Given the description of an element on the screen output the (x, y) to click on. 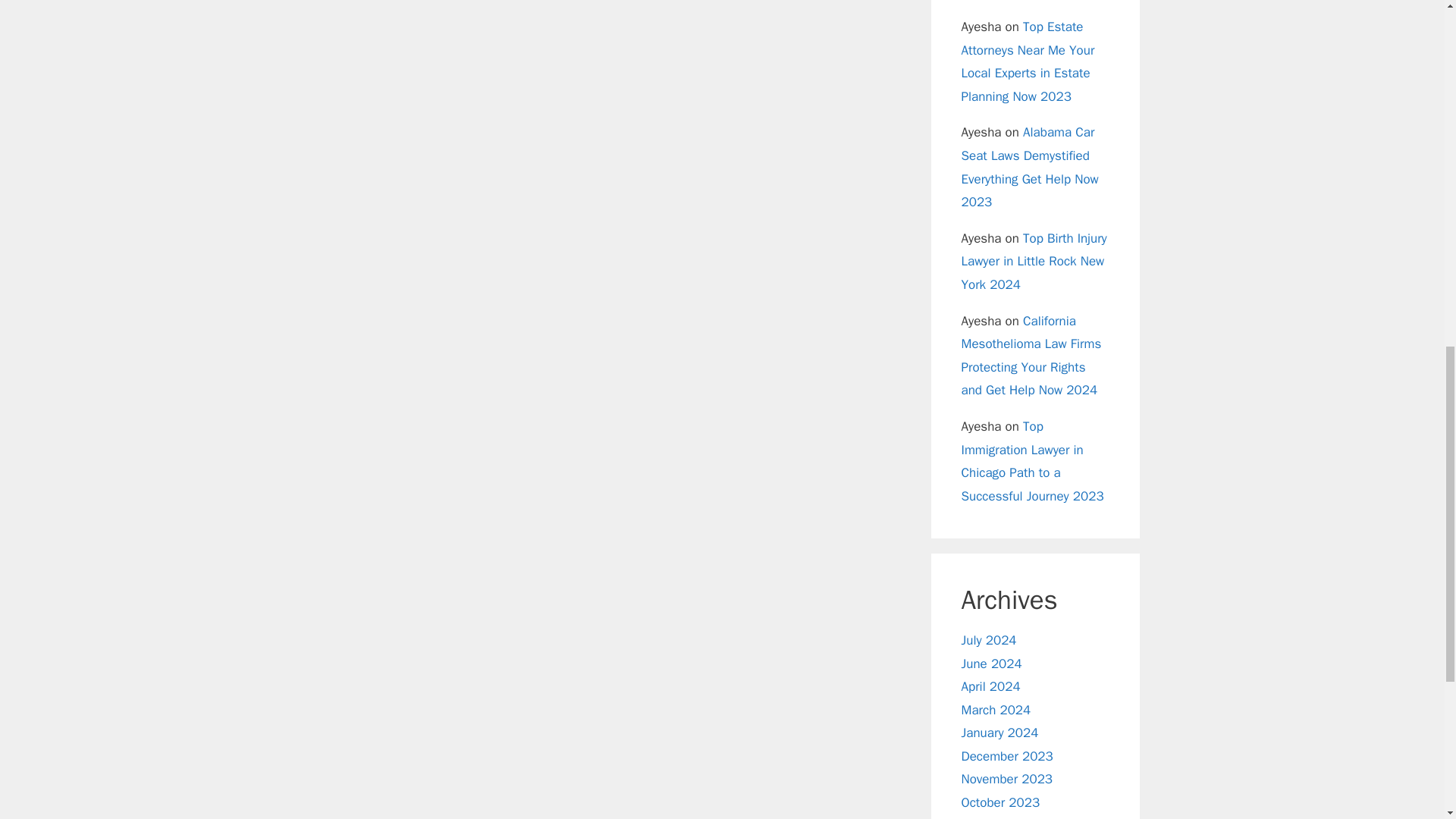
January 2024 (999, 732)
October 2023 (1000, 802)
November 2023 (1006, 779)
July 2024 (988, 640)
Top Birth Injury Lawyer in Little Rock New York 2024 (1033, 261)
April 2024 (990, 686)
June 2024 (991, 663)
December 2023 (1006, 756)
March 2024 (995, 709)
